Given the description of an element on the screen output the (x, y) to click on. 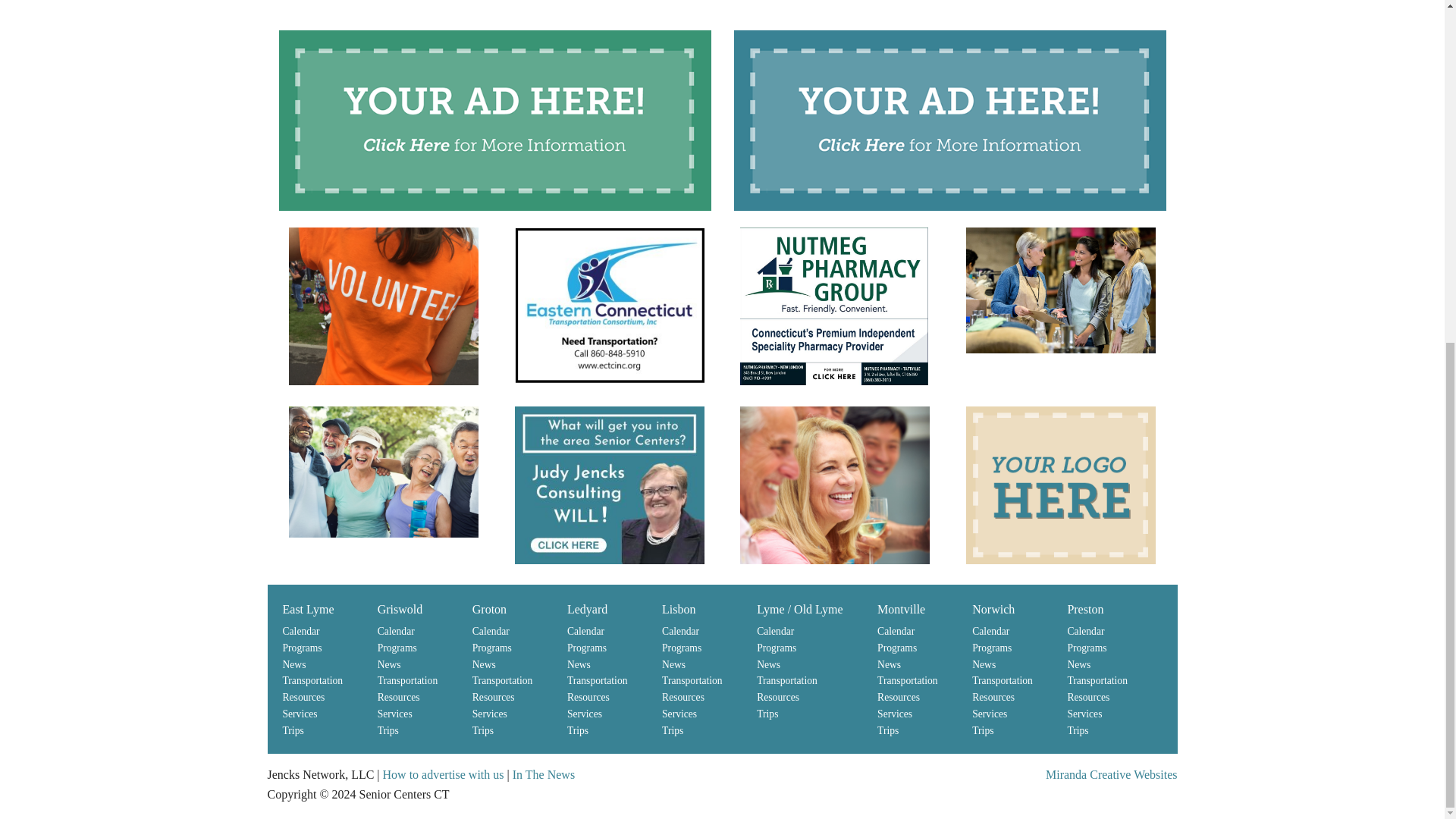
Website developed by Miranda Creative Inc. (1110, 774)
